Given the description of an element on the screen output the (x, y) to click on. 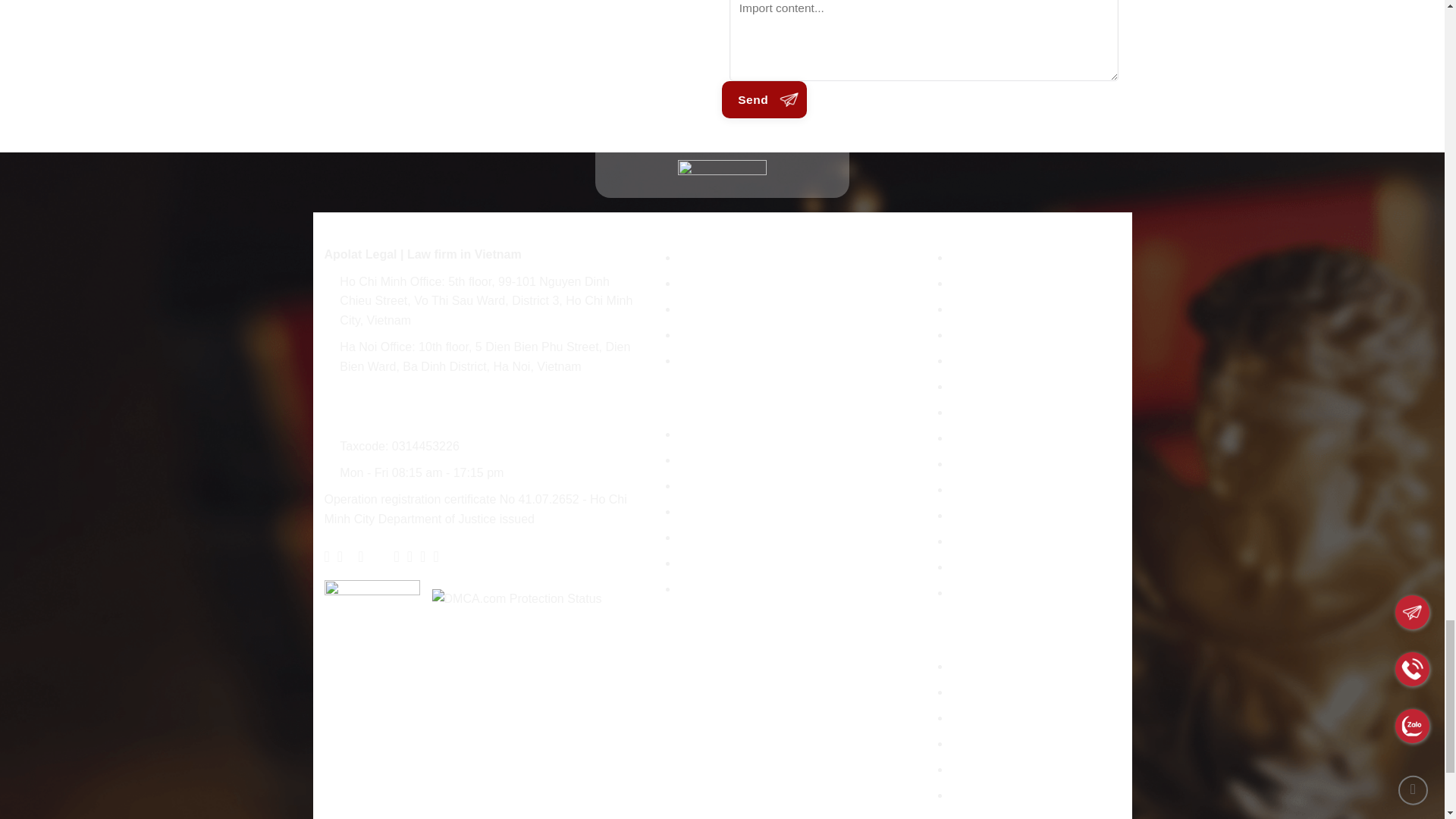
Send (764, 99)
